Given the description of an element on the screen output the (x, y) to click on. 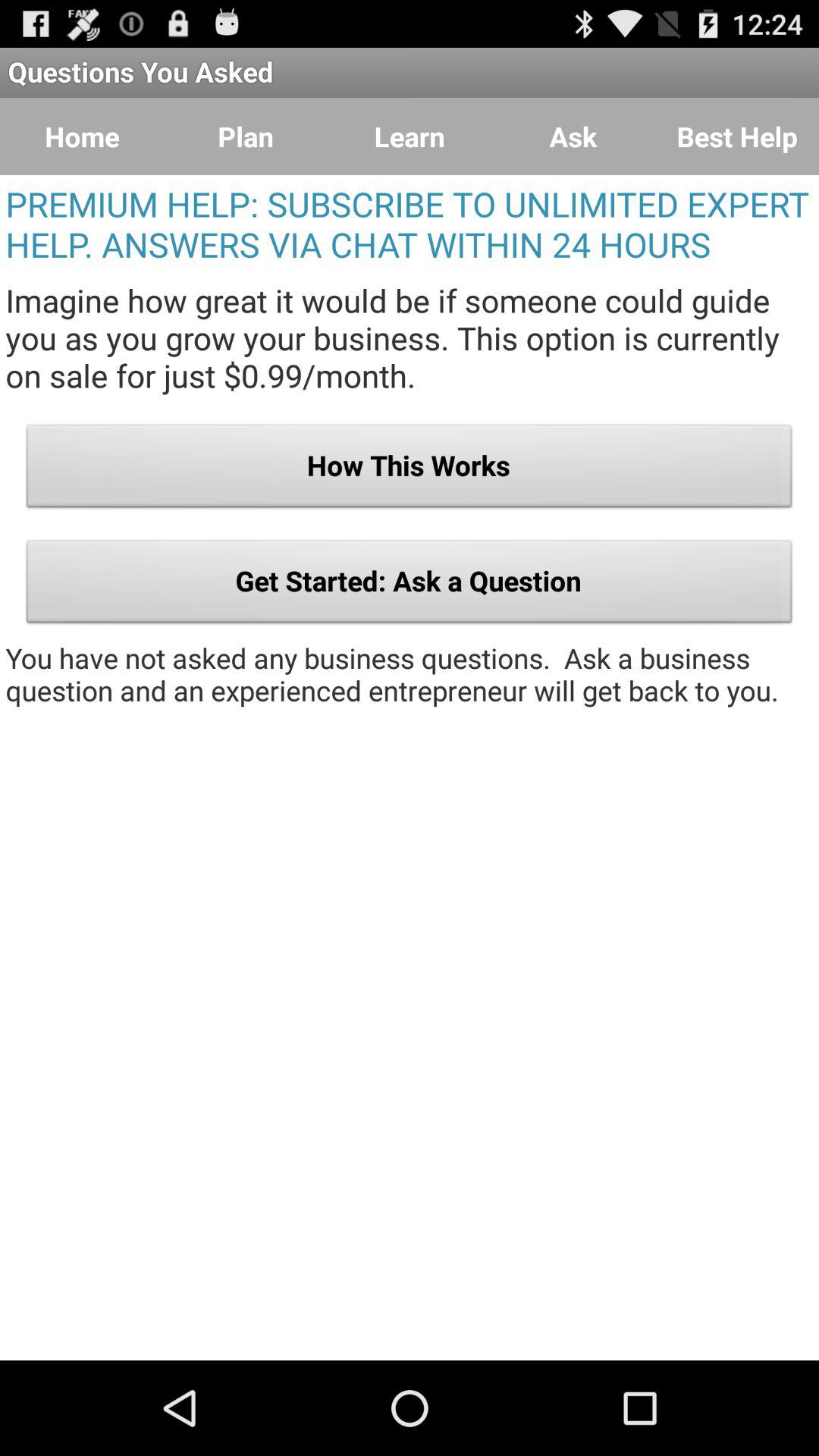
tap the home button (81, 136)
